Given the description of an element on the screen output the (x, y) to click on. 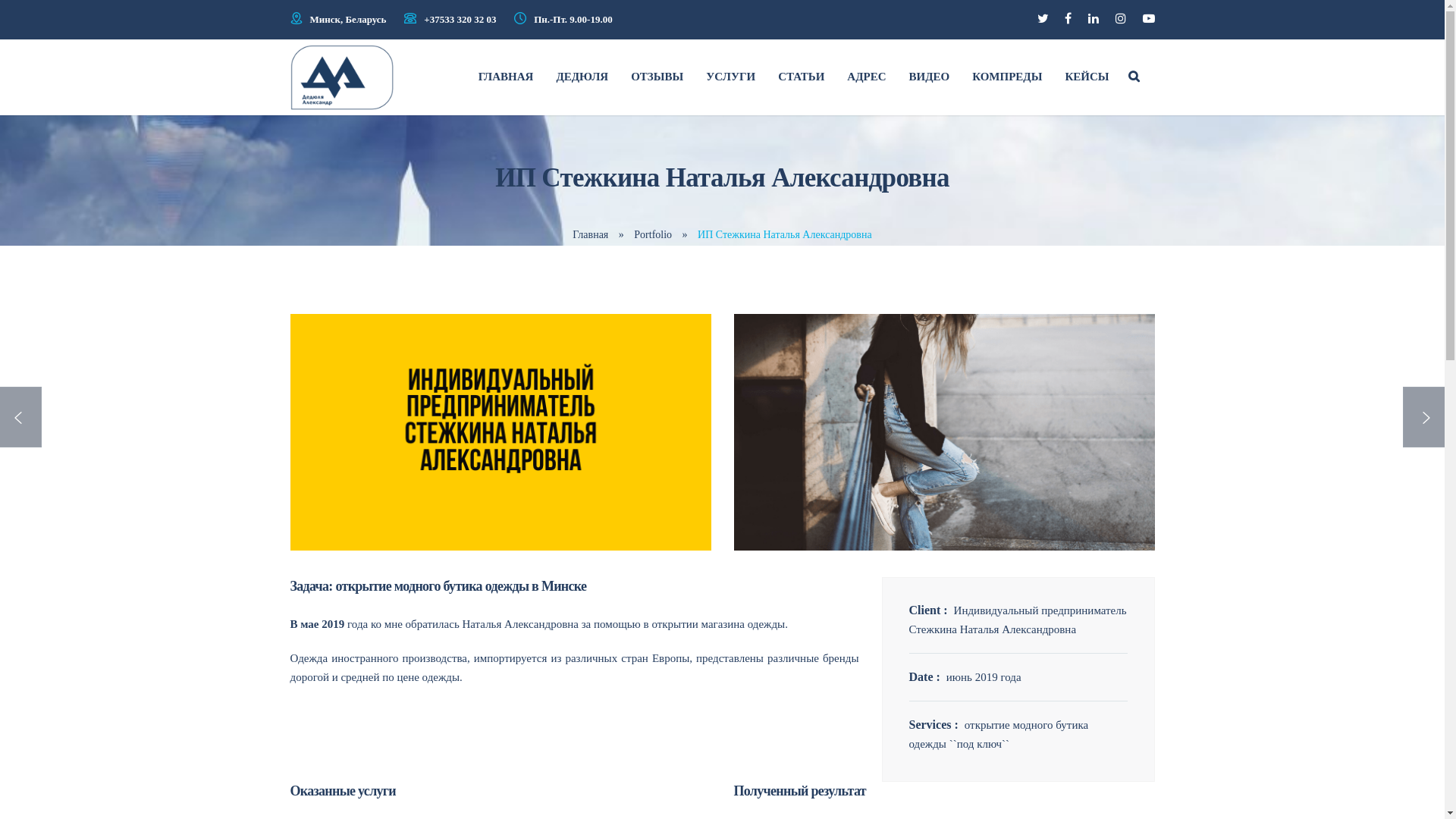
Twitter Element type: hover (1042, 18)
Instagram Element type: hover (1120, 18)
YouTube Element type: hover (1148, 18)
Portfolio Element type: text (652, 235)
Facebook Element type: hover (1067, 18)
Linkedin Element type: hover (1093, 18)
